Given the description of an element on the screen output the (x, y) to click on. 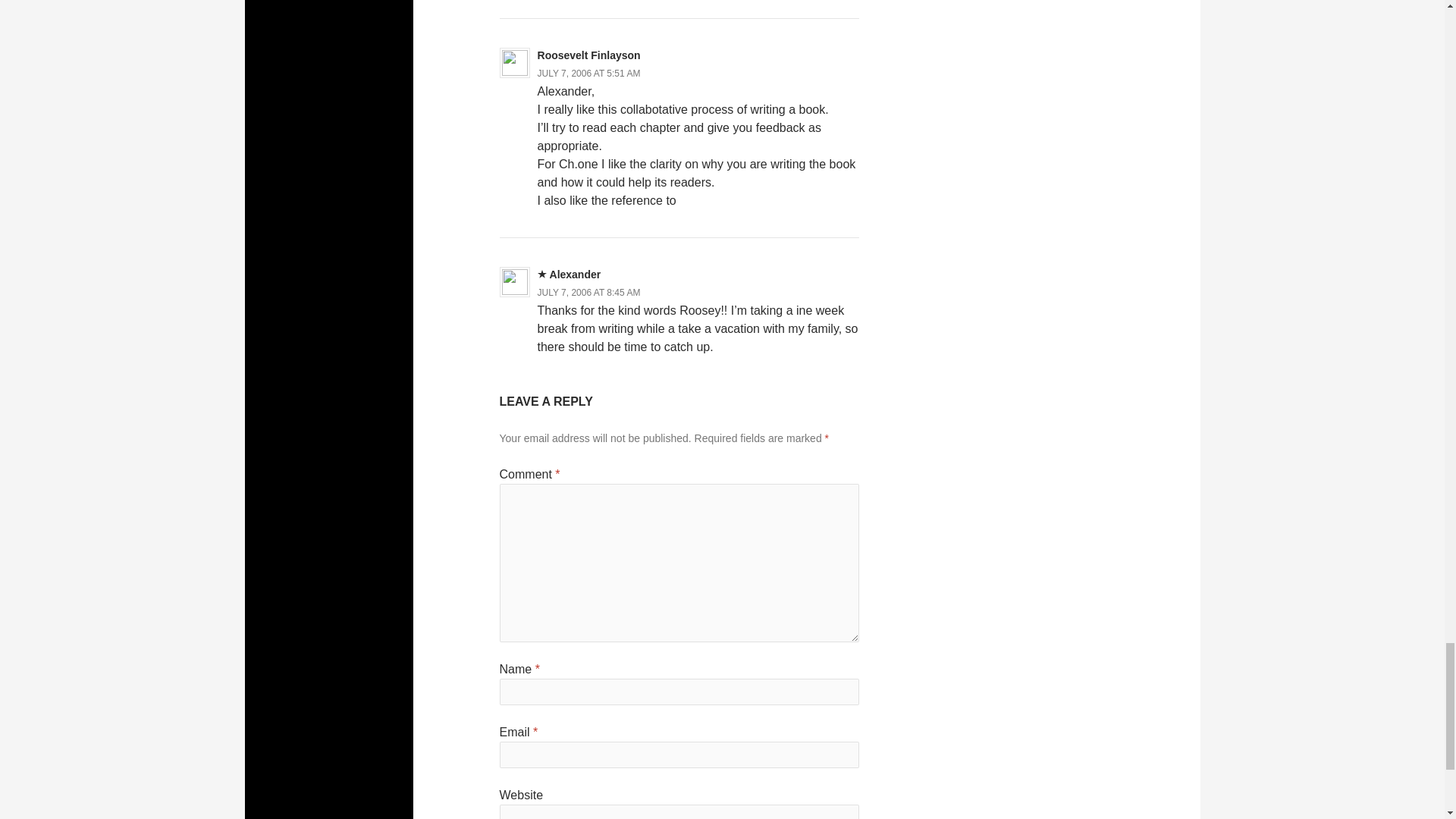
JULY 7, 2006 AT 8:45 AM (588, 292)
JULY 7, 2006 AT 5:51 AM (588, 72)
Alexander (575, 274)
